Given the description of an element on the screen output the (x, y) to click on. 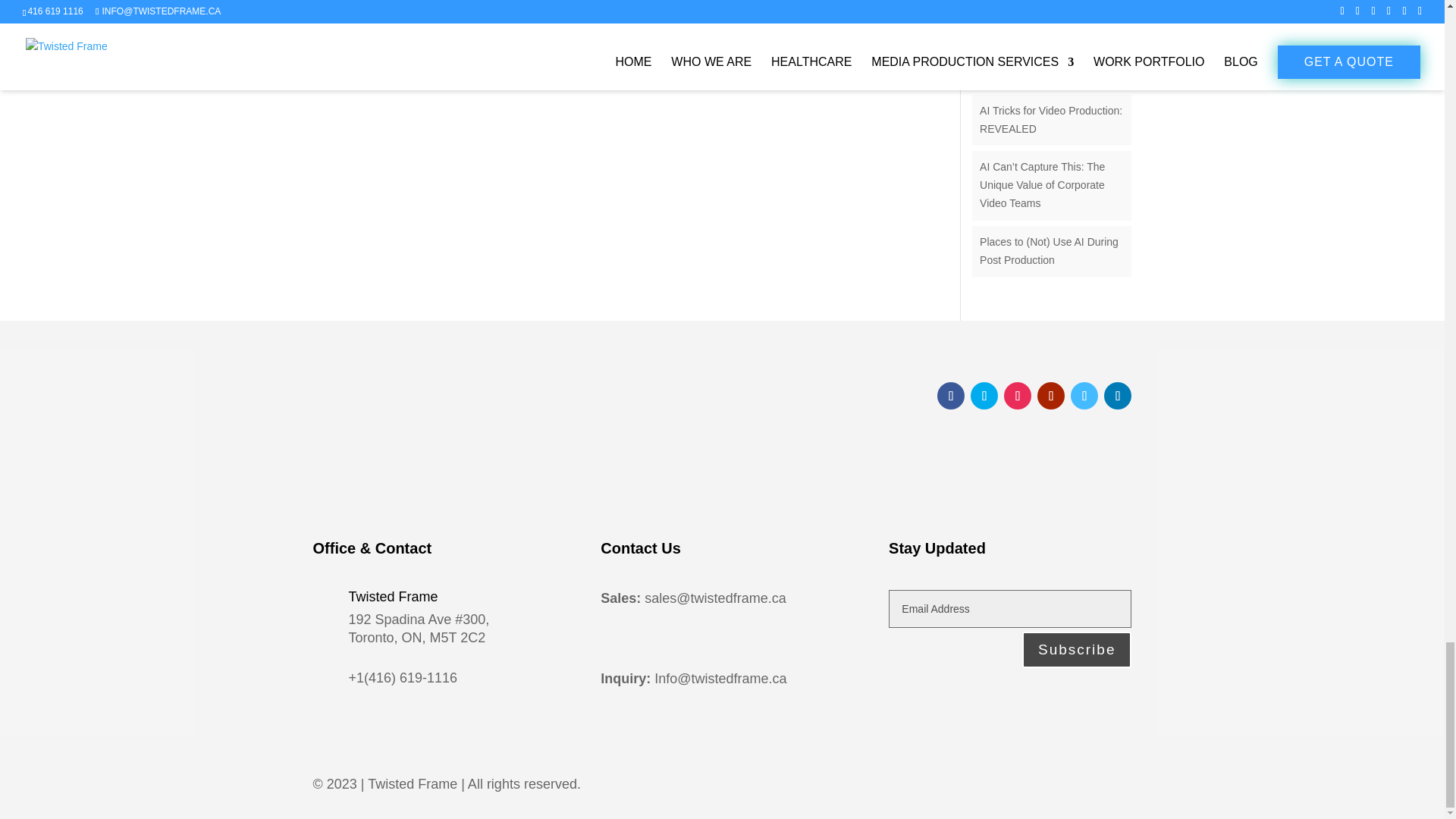
Follow on Twitter (984, 395)
Follow on Facebook (950, 395)
Follow on Youtube (1050, 395)
Follow on Instagram (1017, 395)
Follow on LinkedIn (1117, 395)
tfa-logo (426, 439)
Follow on Vimeo (1083, 395)
